Given the description of an element on the screen output the (x, y) to click on. 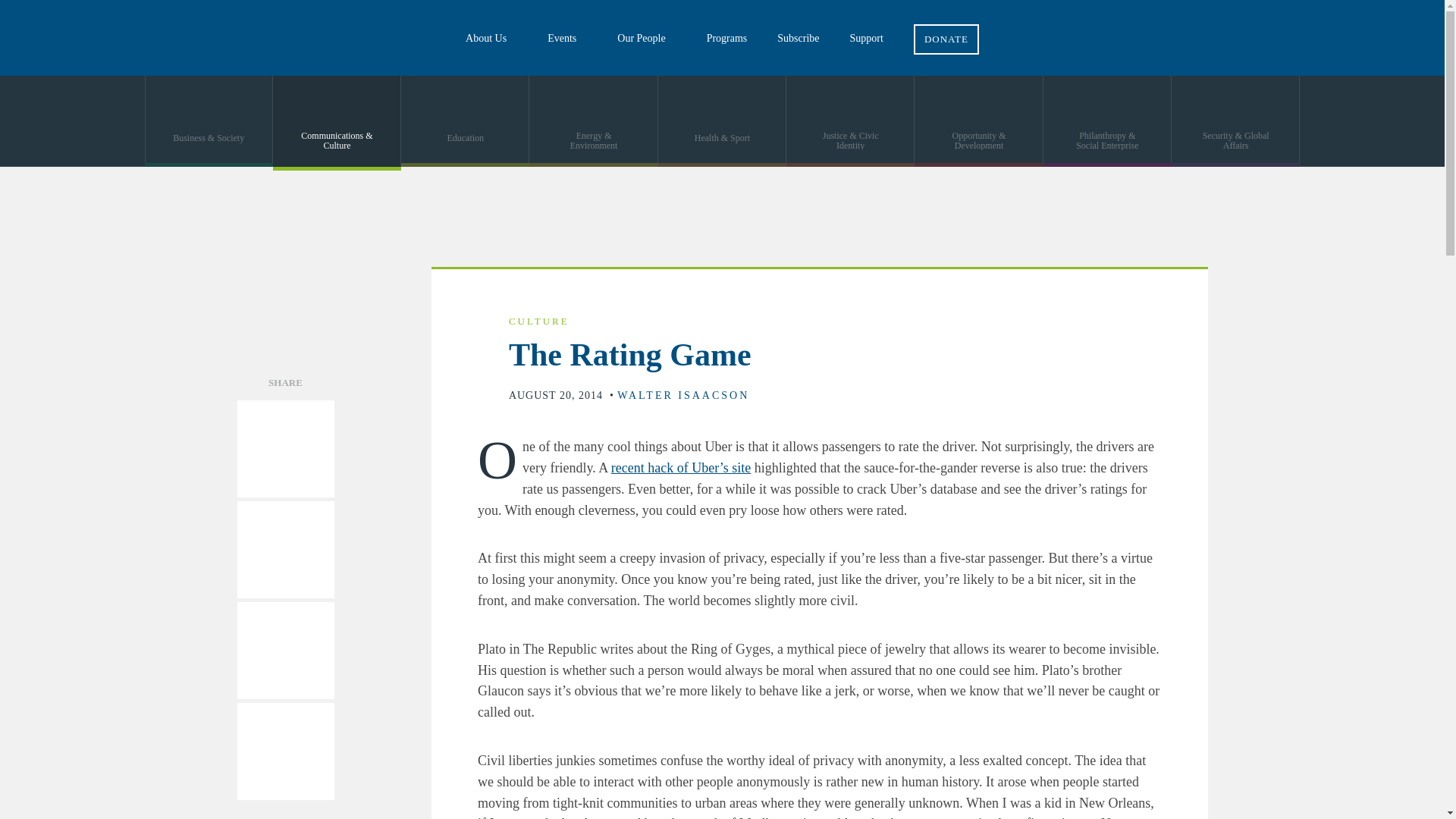
Events (567, 38)
Programs (726, 38)
The Aspen Institute (113, 38)
About Us (490, 38)
Education (465, 121)
DONATE (946, 27)
Subscribe (797, 38)
Our People (646, 38)
